Given the description of an element on the screen output the (x, y) to click on. 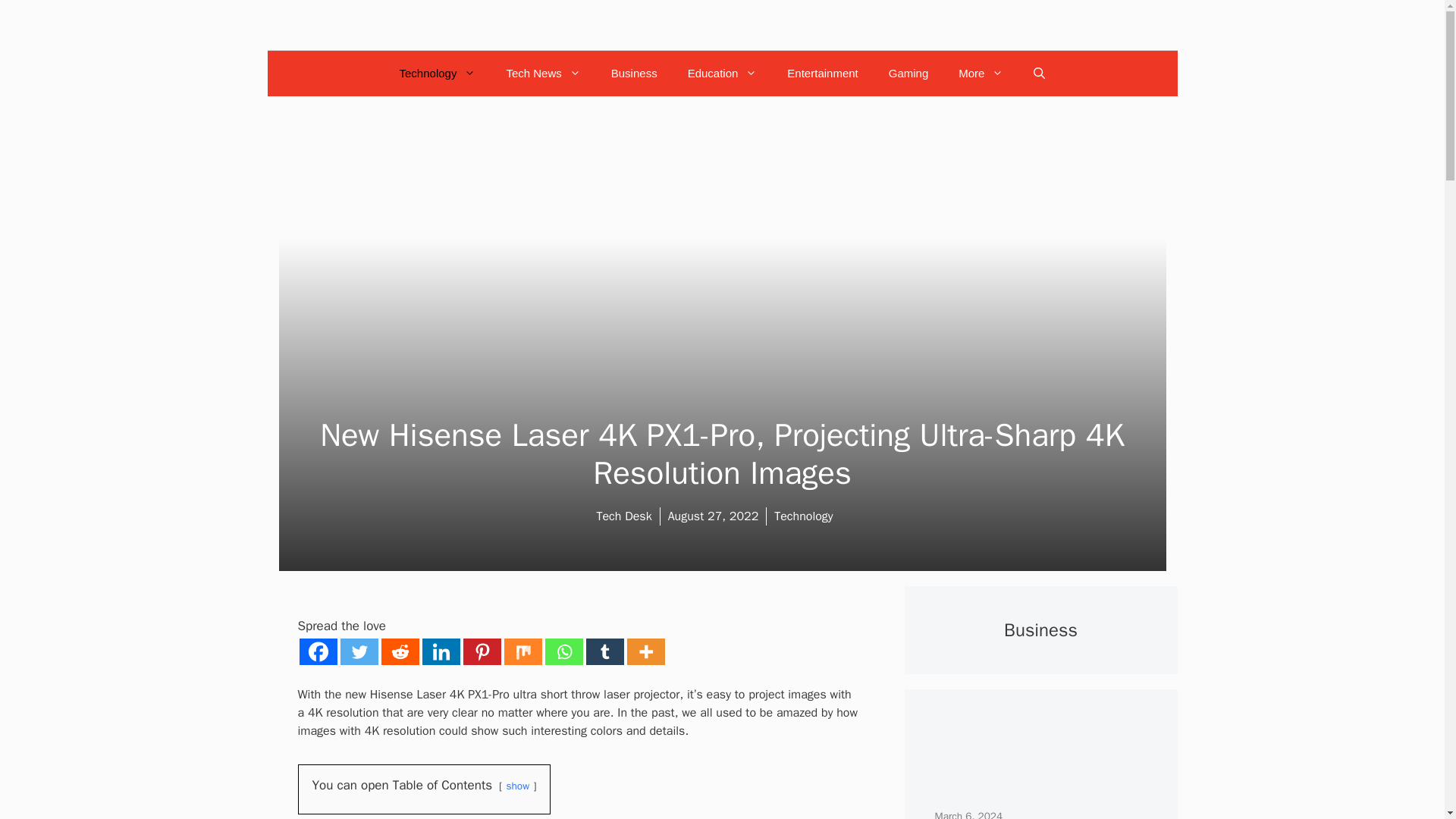
Mix (522, 651)
Tech News (542, 73)
More (644, 651)
More (980, 73)
Business (633, 73)
Whatsapp (563, 651)
Gaming (908, 73)
Education (722, 73)
Pinterest (481, 651)
Twitter (358, 651)
Reddit (399, 651)
Entertainment (821, 73)
Linkedin (441, 651)
Technology (438, 73)
Tumblr (604, 651)
